Given the description of an element on the screen output the (x, y) to click on. 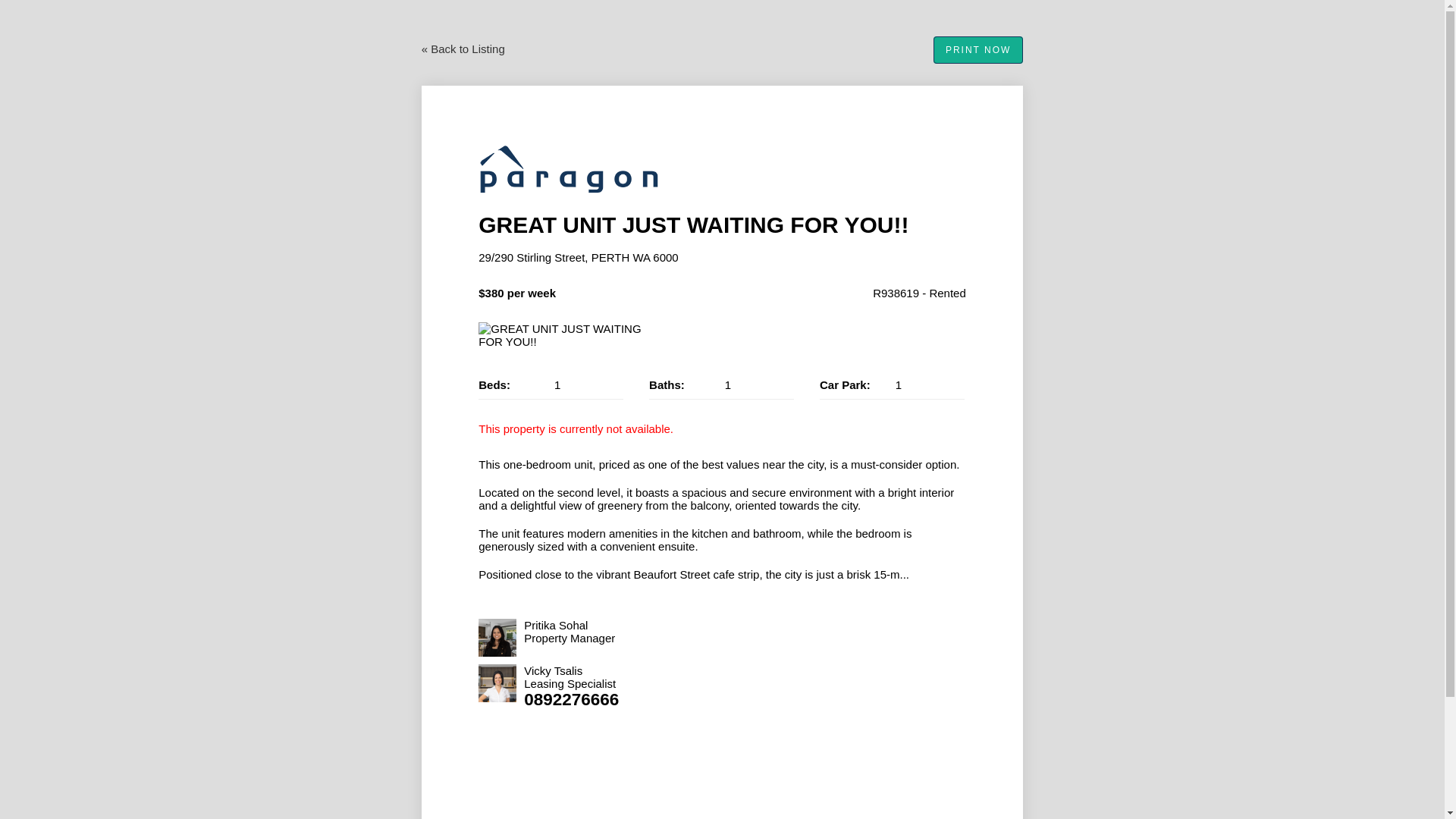
GREAT UNIT JUST WAITING FOR YOU!! (570, 335)
Beds (551, 385)
PRINT NOW (978, 49)
Baths (721, 385)
Car Park (891, 385)
